Given the description of an element on the screen output the (x, y) to click on. 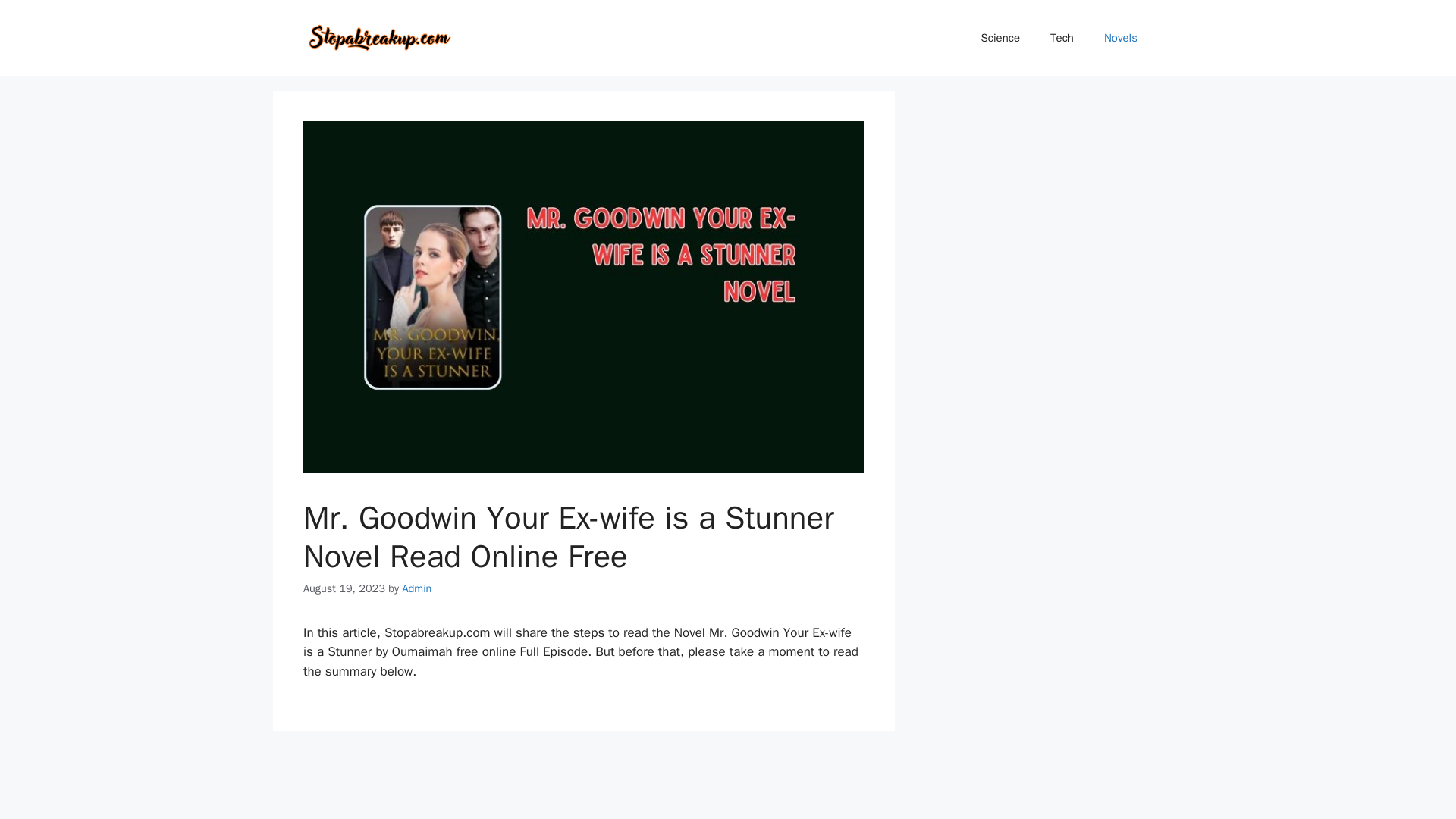
Tech (1062, 37)
View all posts by Admin (415, 588)
Science (1000, 37)
Novels (1121, 37)
Admin (415, 588)
